Given the description of an element on the screen output the (x, y) to click on. 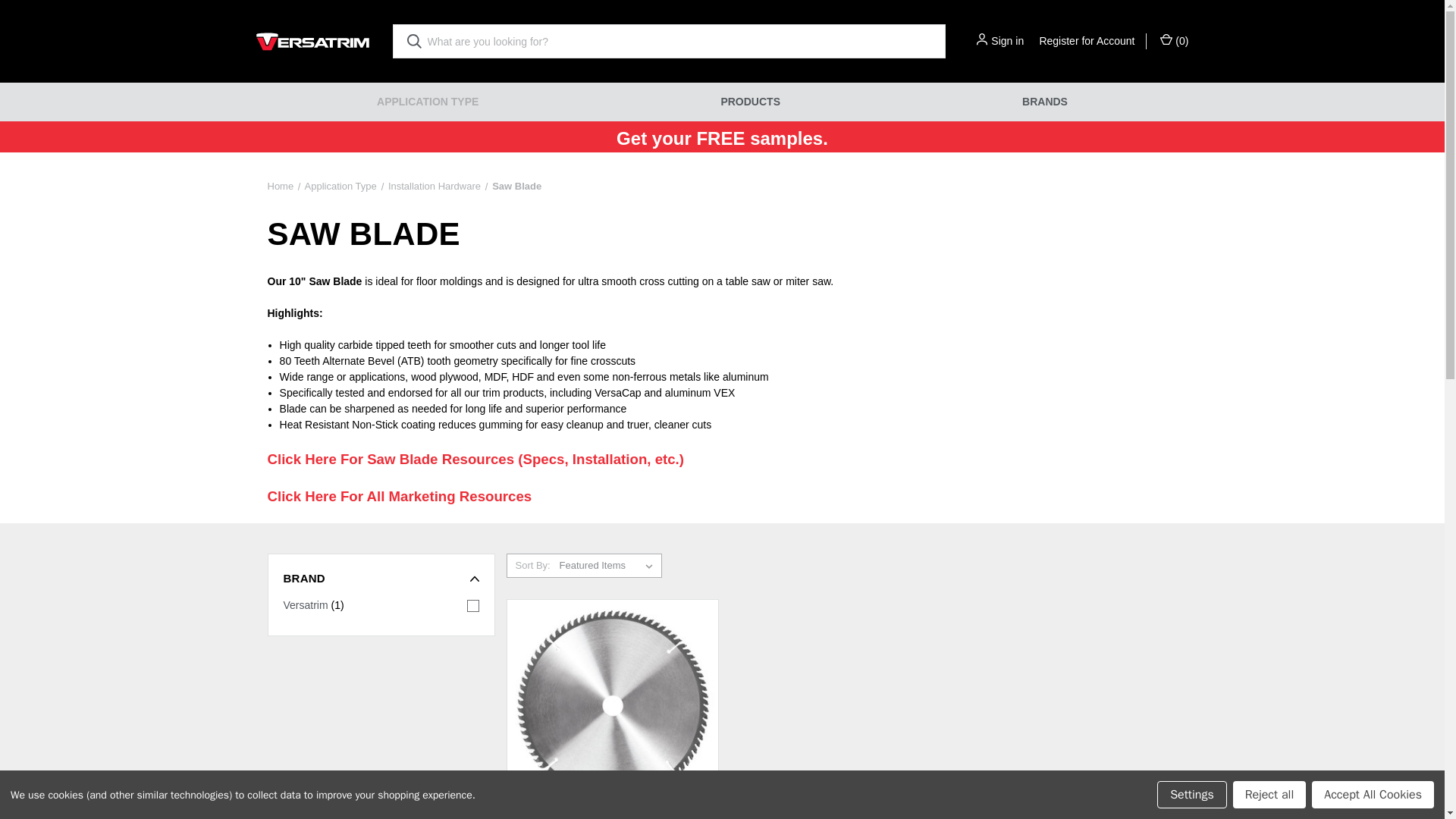
Register for Account (1086, 41)
Sign in (1007, 41)
10-Inch-Sawblade-80 (612, 706)
VERSATRIM - The Leading Molding Brand in North America (312, 40)
APPLICATION TYPE (427, 101)
